Given the description of an element on the screen output the (x, y) to click on. 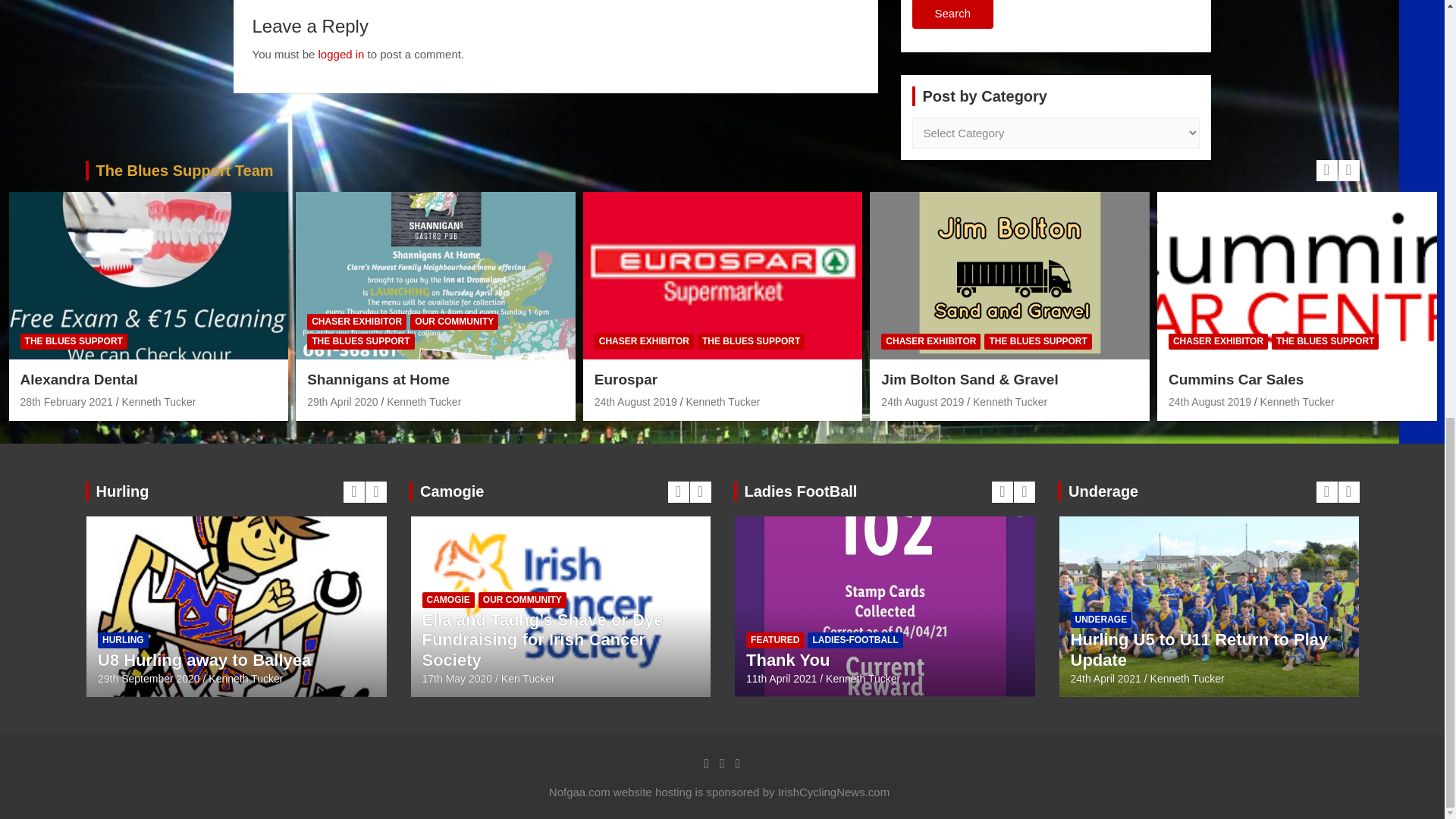
Eurospar (635, 401)
Search (951, 14)
Search (951, 14)
Alexandra Dental (66, 401)
logged in (341, 53)
Shannigans at Home (342, 401)
Search (951, 14)
Cummins Car Sales (1209, 401)
